Given the description of an element on the screen output the (x, y) to click on. 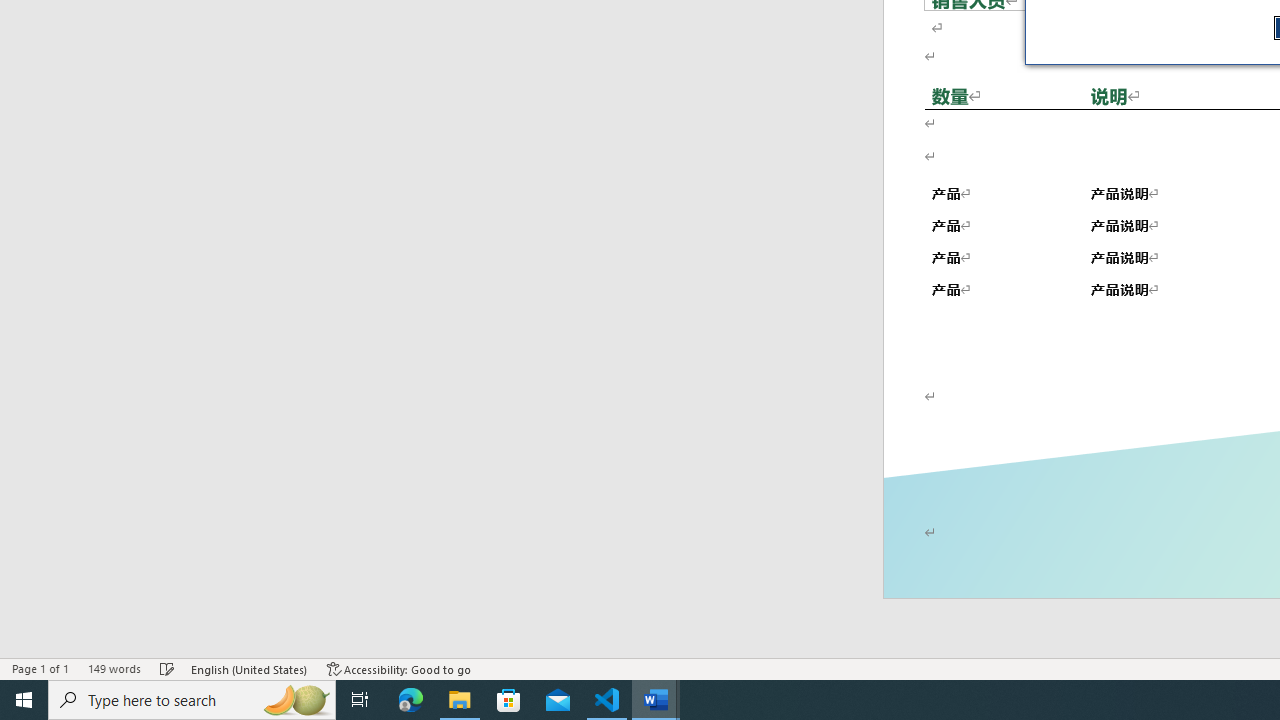
Microsoft Edge (411, 699)
Microsoft Store (509, 699)
File Explorer - 1 running window (460, 699)
Visual Studio Code - 1 running window (607, 699)
Spelling and Grammar Check Checking (168, 668)
Task View (359, 699)
Language English (United States) (250, 668)
Page Number Page 1 of 1 (39, 668)
Start (24, 699)
Search highlights icon opens search home window (295, 699)
Word - 2 running windows (656, 699)
Type here to search (191, 699)
Accessibility Checker Accessibility: Good to go (399, 668)
